Given the description of an element on the screen output the (x, y) to click on. 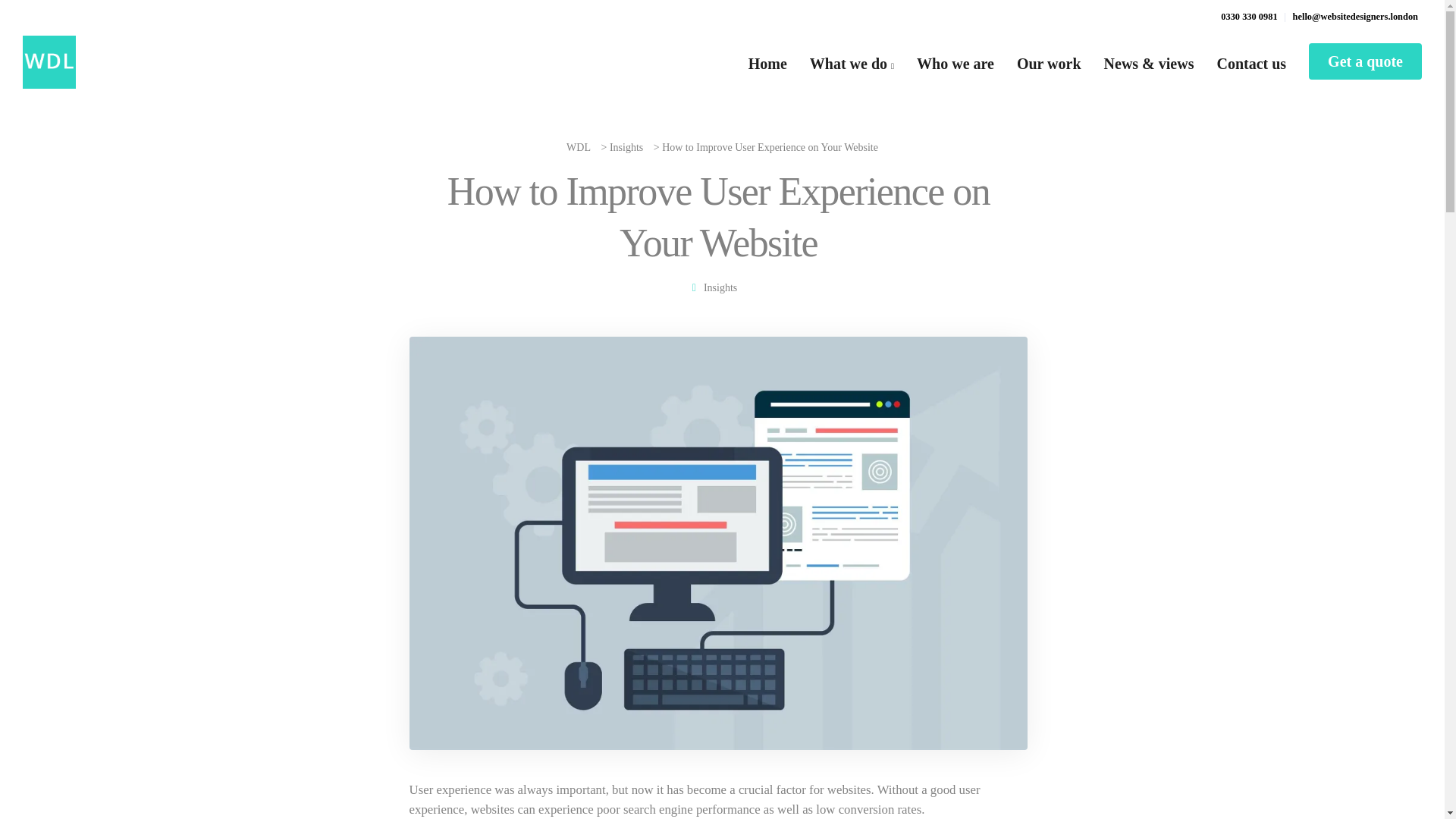
WDL (578, 147)
Insights (719, 287)
0330 330 0981 (1252, 16)
Who we are (955, 62)
Contact us (1251, 62)
Home (766, 62)
Get a quote (1365, 61)
Our work (1049, 62)
Home (766, 62)
What we do (851, 62)
